Given the description of an element on the screen output the (x, y) to click on. 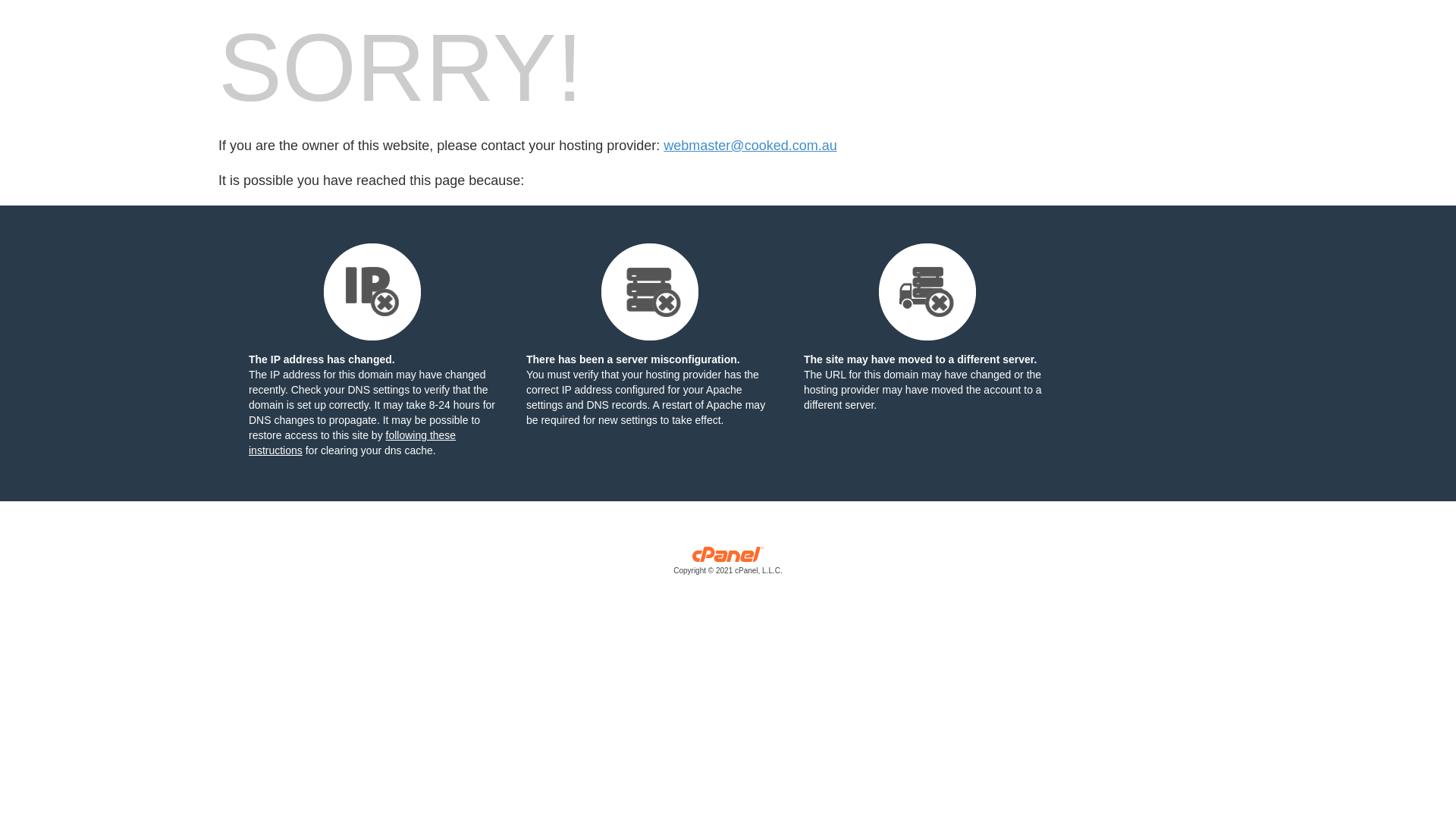
following these instructions Element type: text (351, 442)
webmaster@cooked.com.au Element type: text (749, 145)
